Given the description of an element on the screen output the (x, y) to click on. 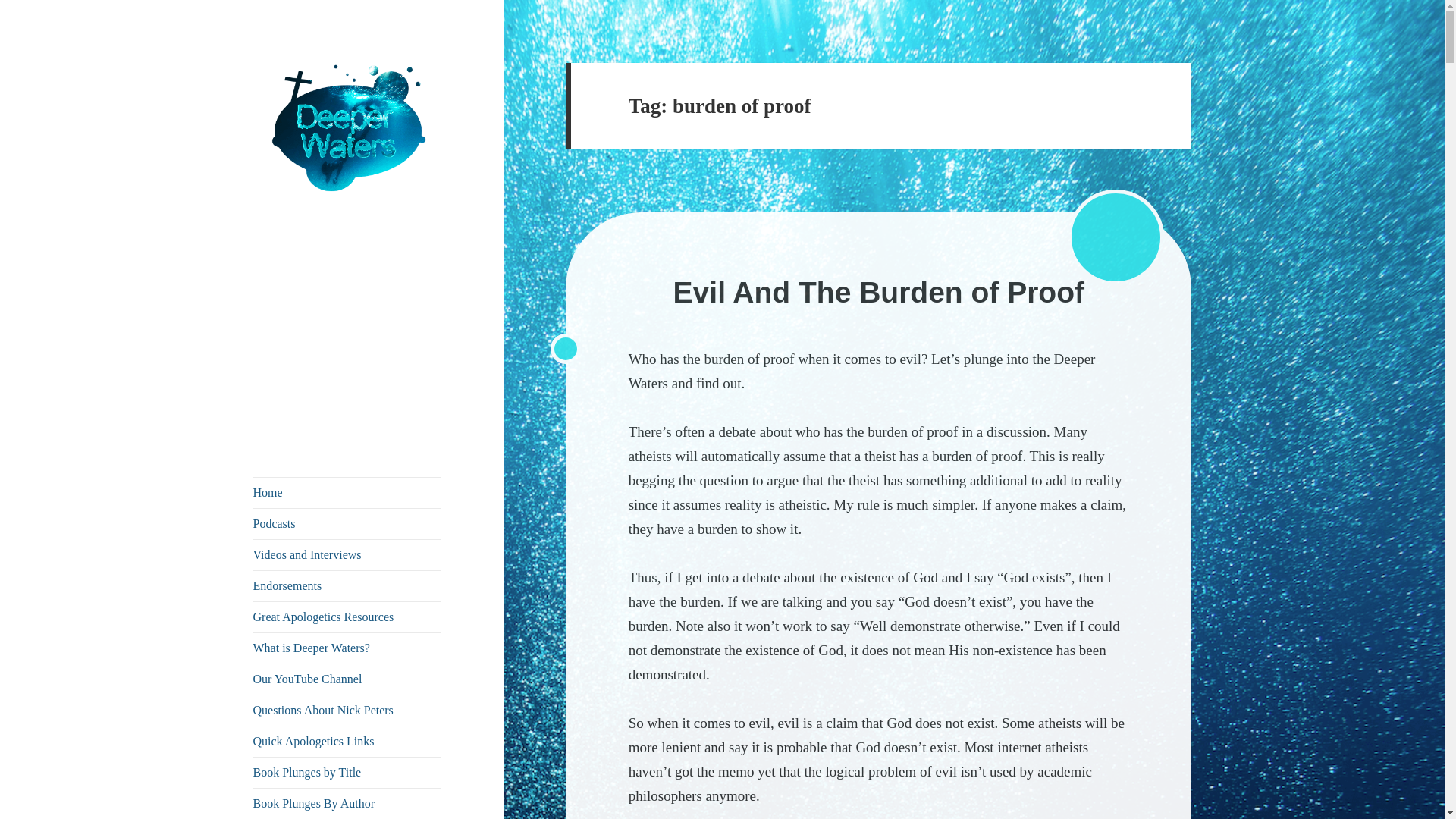
Podcasts (347, 523)
Questions About Nick Peters (347, 710)
Our YouTube Channel (347, 679)
Book Plunges by Title (347, 772)
What is Deeper Waters? (347, 648)
Book Plunges By Author (347, 803)
Home (347, 492)
Quick Apologetics Links (347, 741)
Great Apologetics Resources (347, 616)
Videos and Interviews (347, 554)
